Given the description of an element on the screen output the (x, y) to click on. 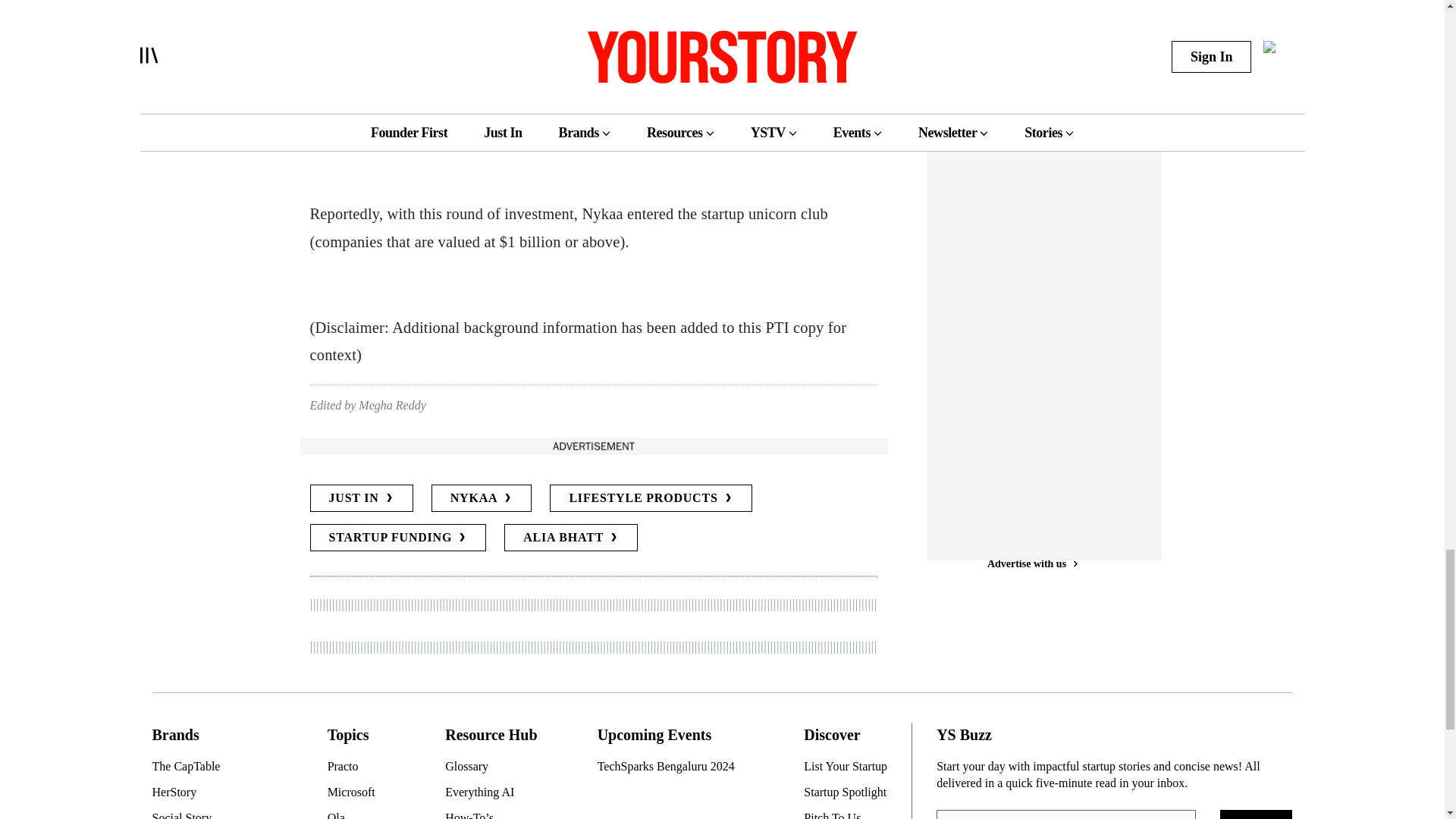
NYKAA (481, 497)
ALIA BHATT (570, 537)
The CapTable (210, 766)
JUST IN (360, 497)
STARTUP FUNDING (397, 537)
Advertise with us (592, 446)
LIFESTYLE PRODUCTS (650, 497)
